Given the description of an element on the screen output the (x, y) to click on. 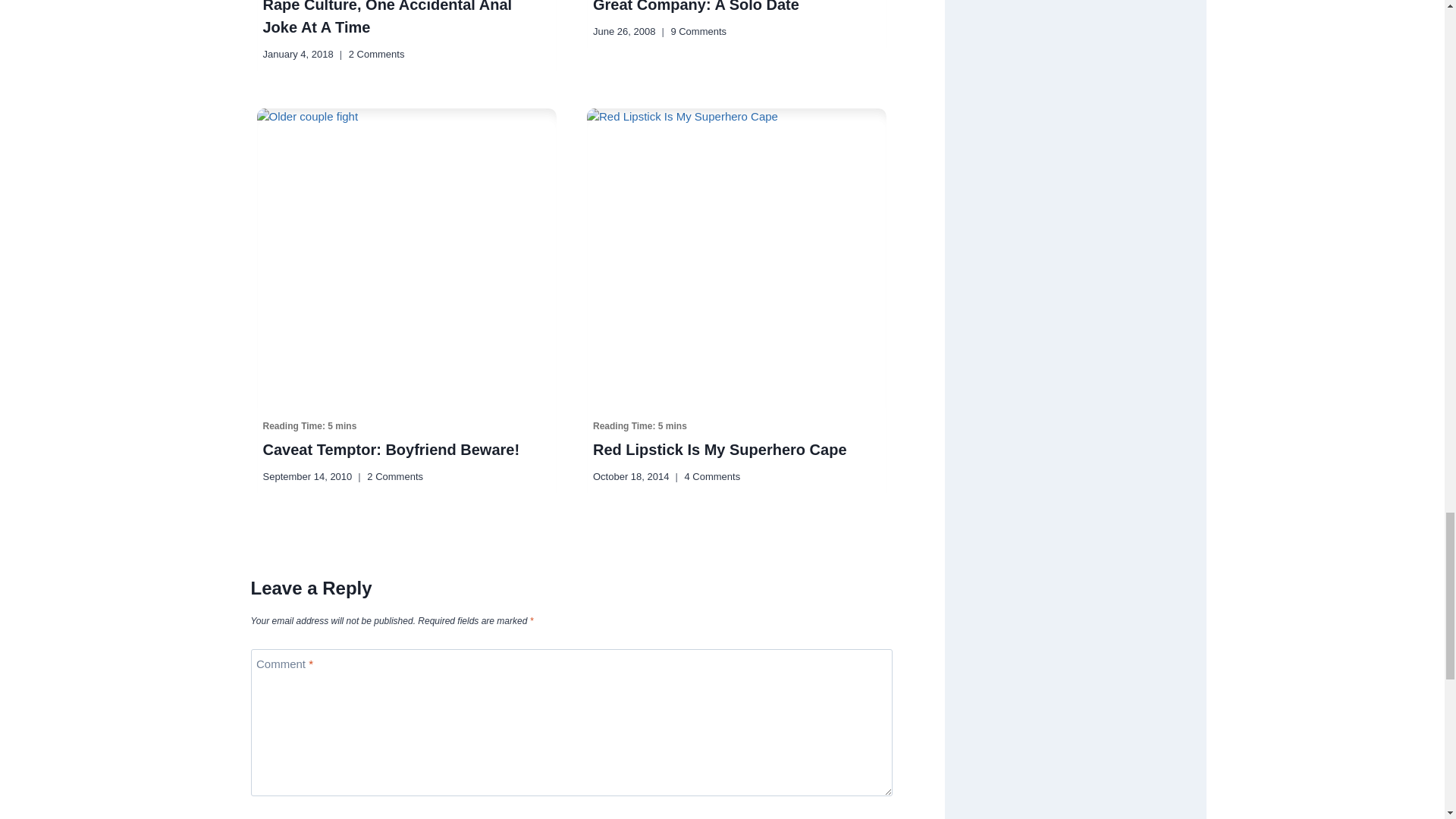
4 Comments (711, 476)
9 Comments (697, 31)
2 Comments (376, 54)
2 Comments (394, 476)
